Given the description of an element on the screen output the (x, y) to click on. 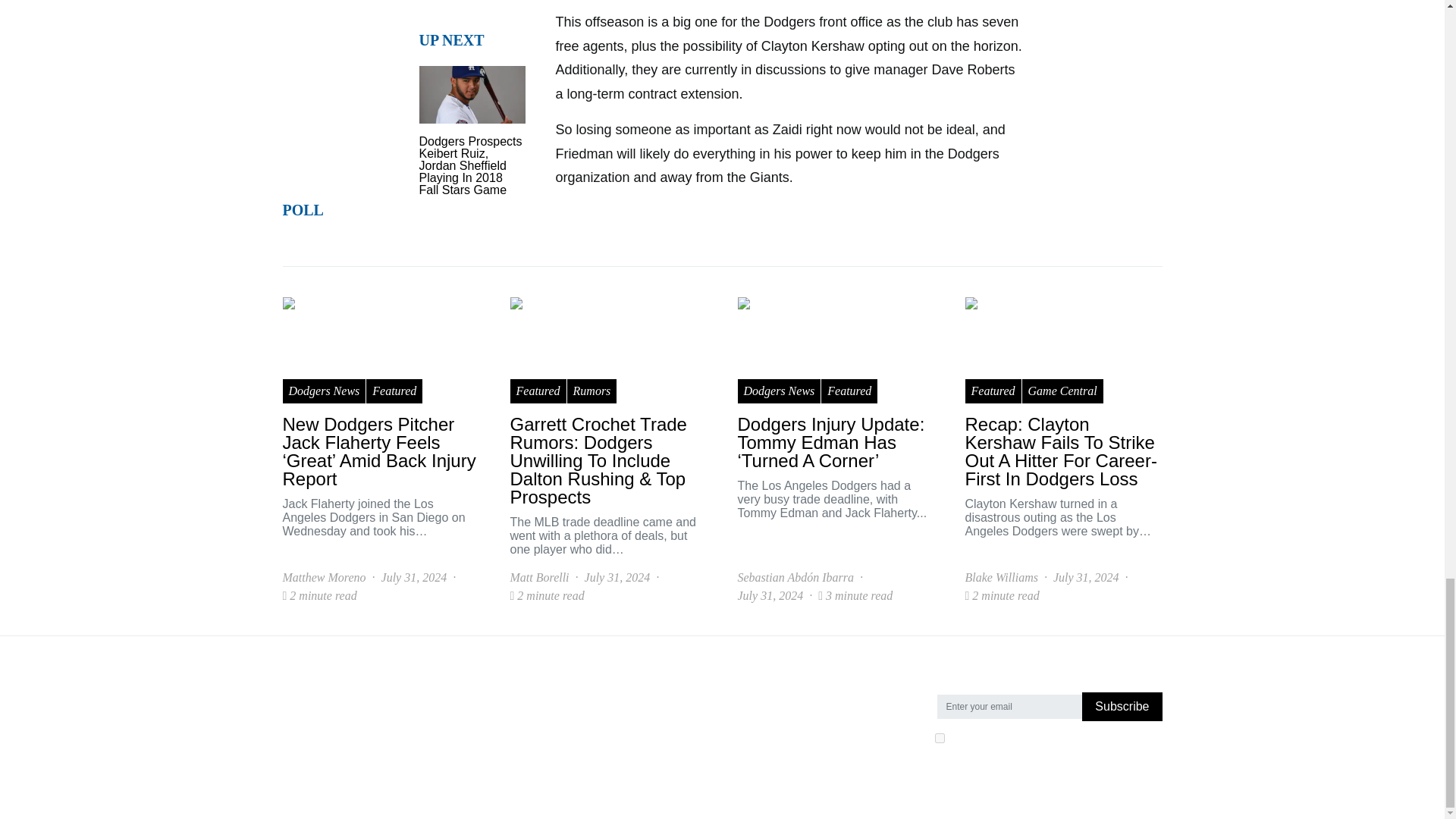
View all posts by Matt Borelli (539, 577)
View all posts by Blake Williams (318, 577)
on (938, 737)
View all posts by Matthew Moreno (778, 577)
